Given the description of an element on the screen output the (x, y) to click on. 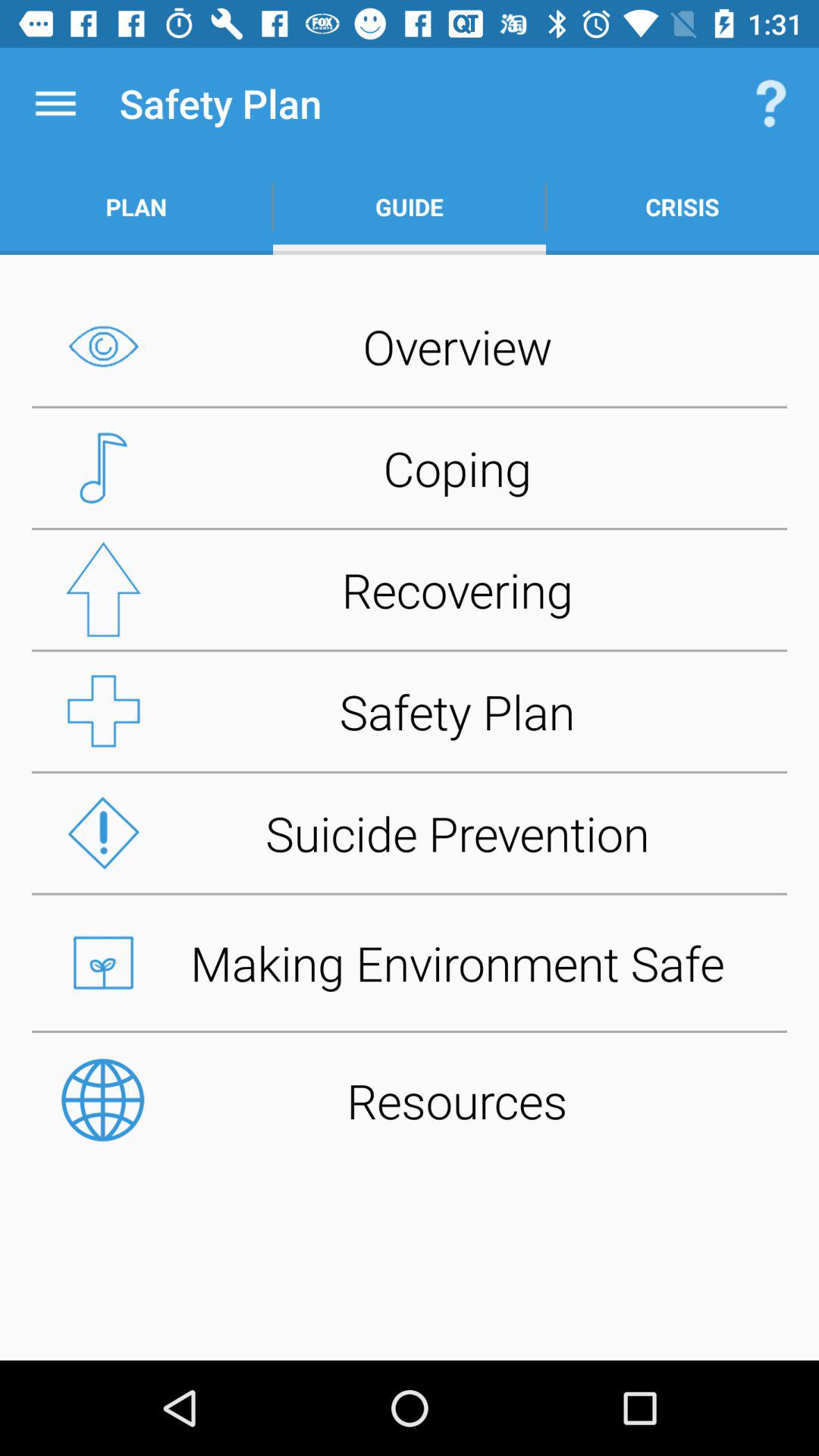
select the item above the plan icon (55, 103)
